Given the description of an element on the screen output the (x, y) to click on. 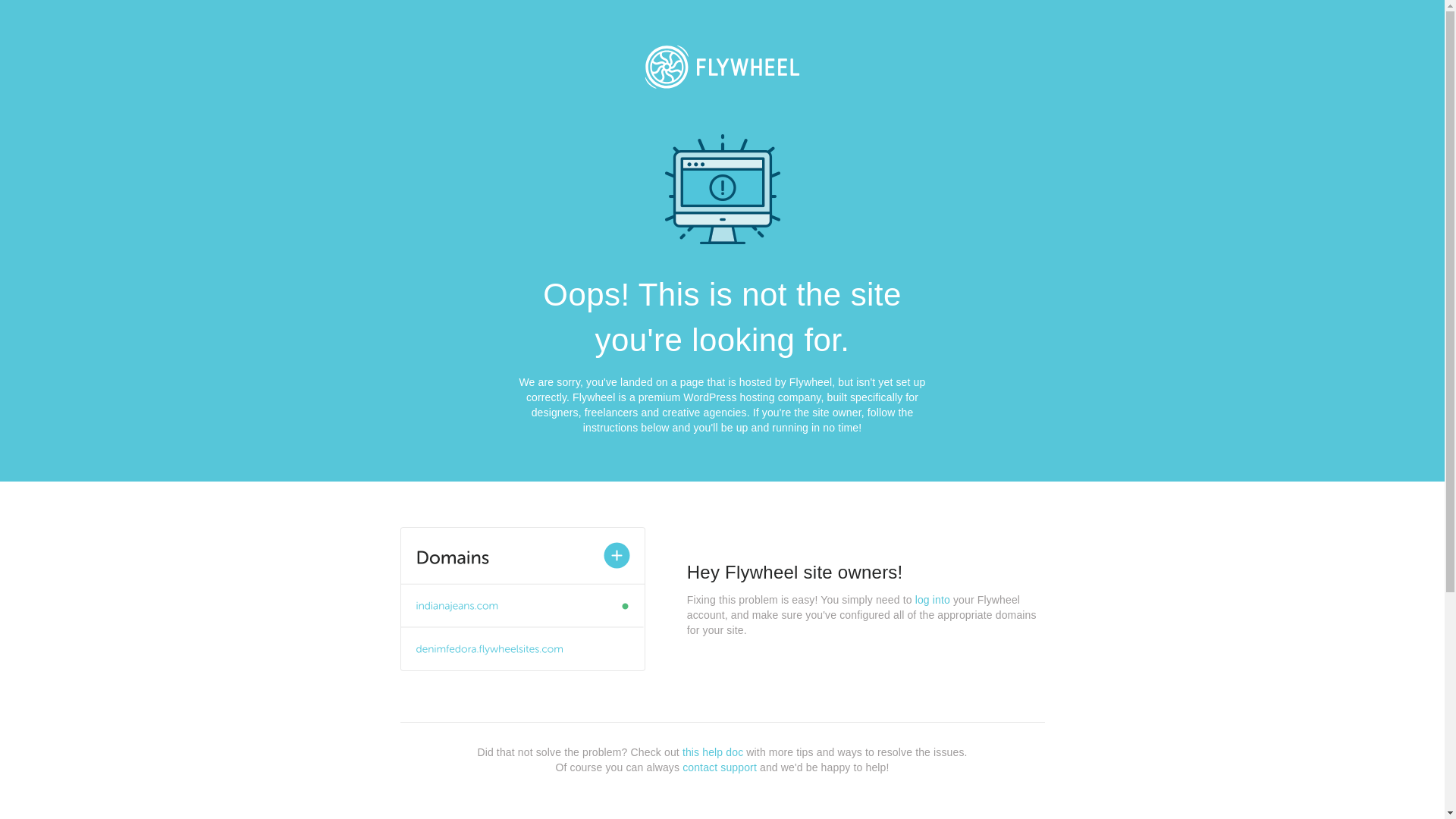
log into (932, 599)
this help doc (712, 752)
contact support (719, 767)
